Given the description of an element on the screen output the (x, y) to click on. 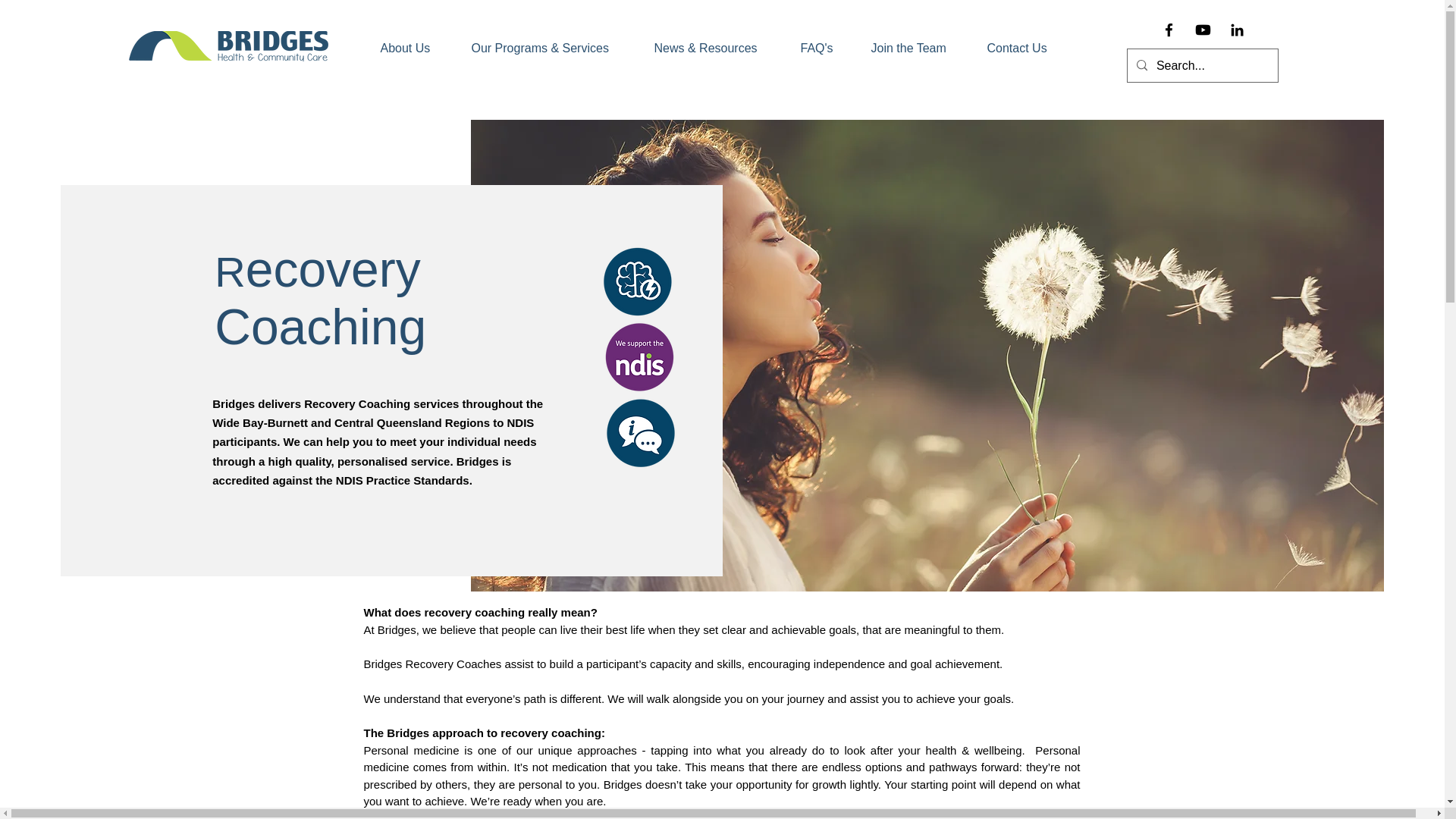
About Us (414, 48)
FAQ's (824, 48)
Join the Team (917, 48)
Contact Us (1025, 48)
